Given the description of an element on the screen output the (x, y) to click on. 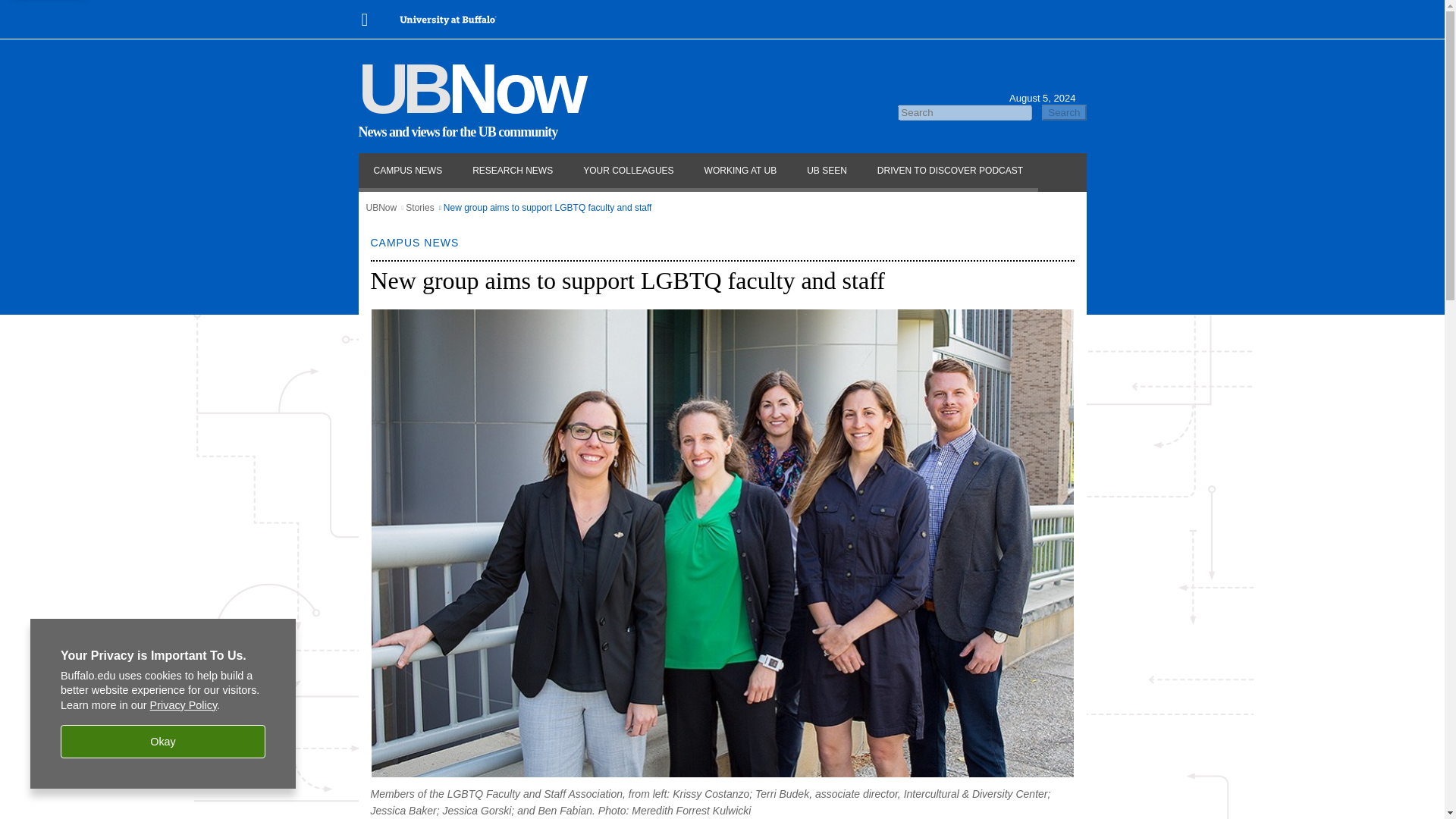
DRIVEN TO DISCOVER PODCAST (949, 172)
Privacy Policy (182, 705)
WORKING AT UB (740, 172)
Okay (162, 741)
UBNow (380, 207)
UBNow (470, 88)
YOUR COLLEAGUES (627, 172)
Search (1064, 112)
CAMPUS NEWS (407, 172)
UB SEEN (826, 172)
RESEARCH NEWS (512, 172)
Stories (419, 207)
Search (1064, 112)
